Given the description of an element on the screen output the (x, y) to click on. 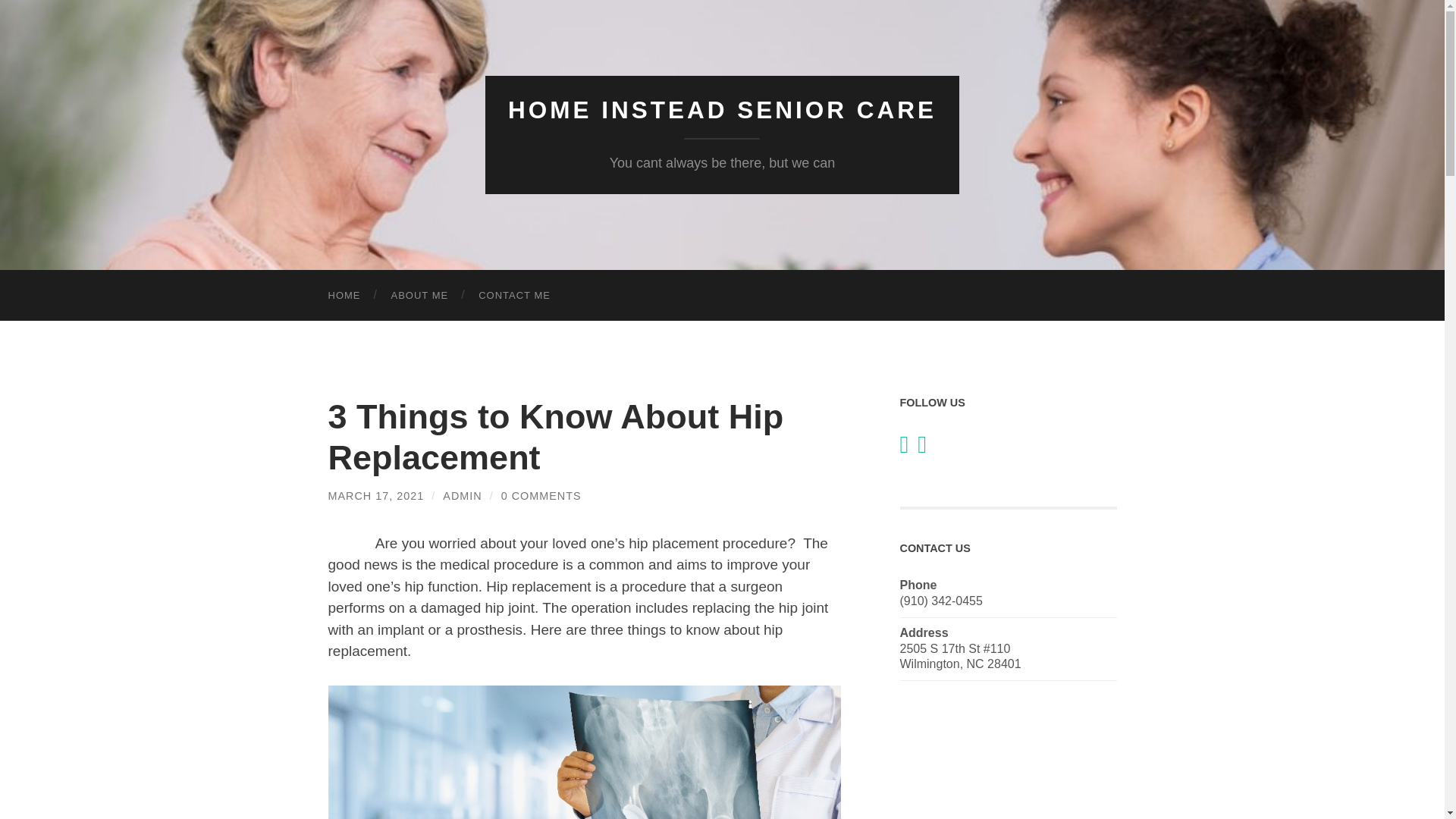
0 COMMENTS (540, 495)
Visit Home Instead Senior Care on Facebook (903, 448)
ADMIN (461, 495)
MARCH 17, 2021 (375, 495)
ABOUT ME (419, 295)
Posts by admin (461, 495)
HOME (344, 295)
CONTACT ME (514, 295)
Visit Home Instead Senior Care on Instagram (921, 448)
HOME INSTEAD SENIOR CARE (722, 109)
